Given the description of an element on the screen output the (x, y) to click on. 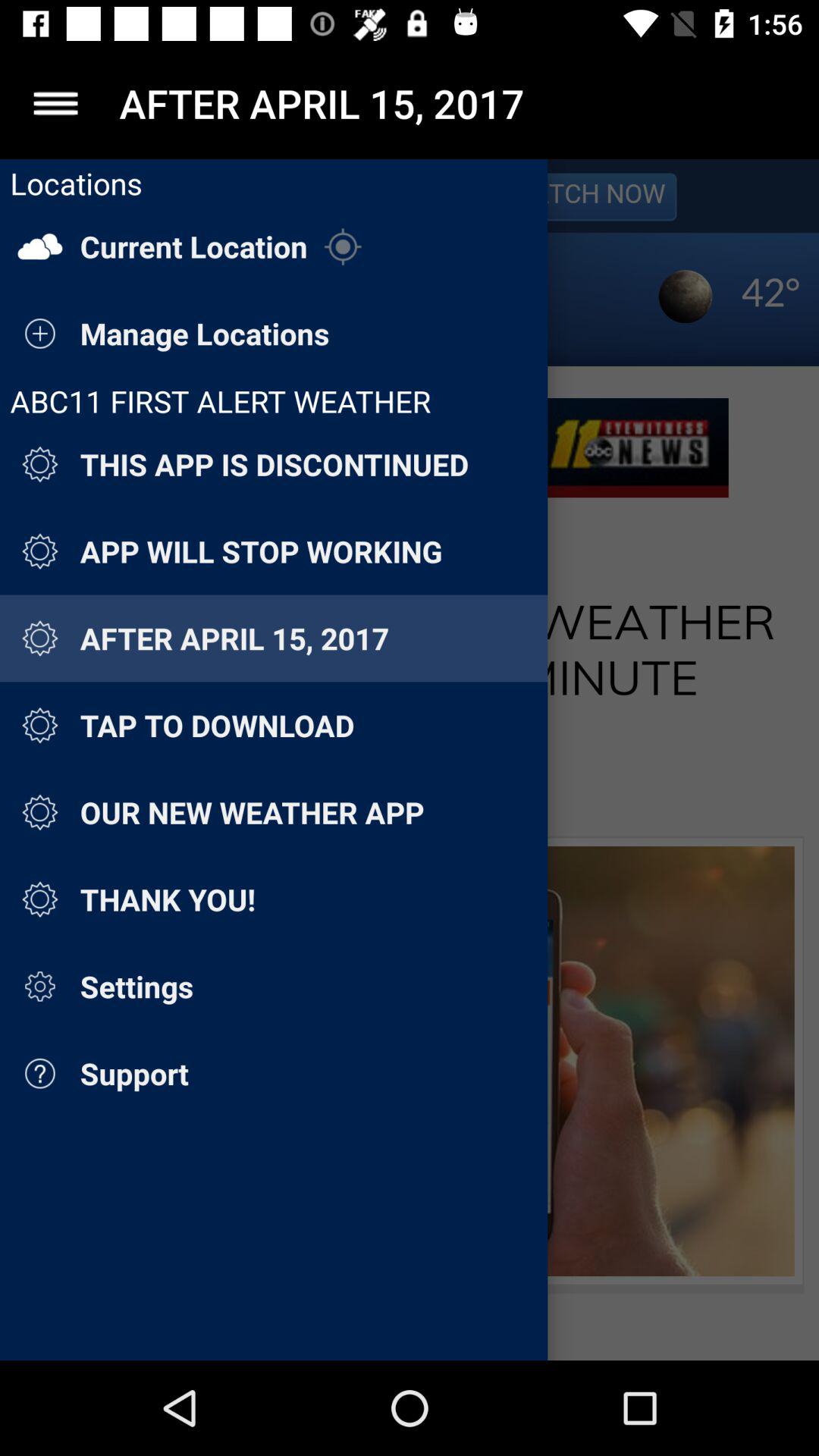
view settings (55, 103)
